Given the description of an element on the screen output the (x, y) to click on. 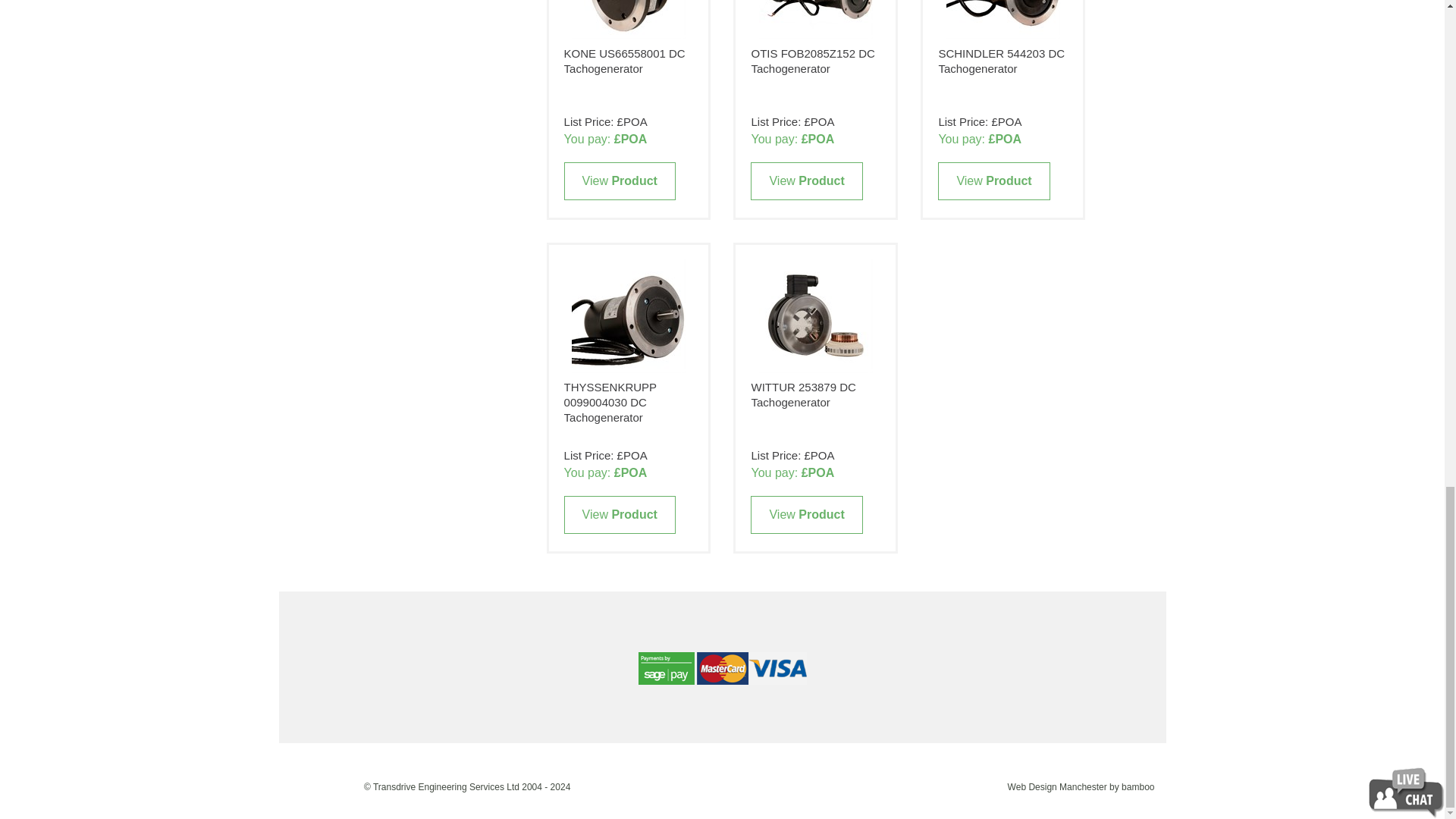
View Product (806, 514)
View Product (806, 180)
View Product (619, 180)
View Product (993, 180)
View Product (619, 514)
